Given the description of an element on the screen output the (x, y) to click on. 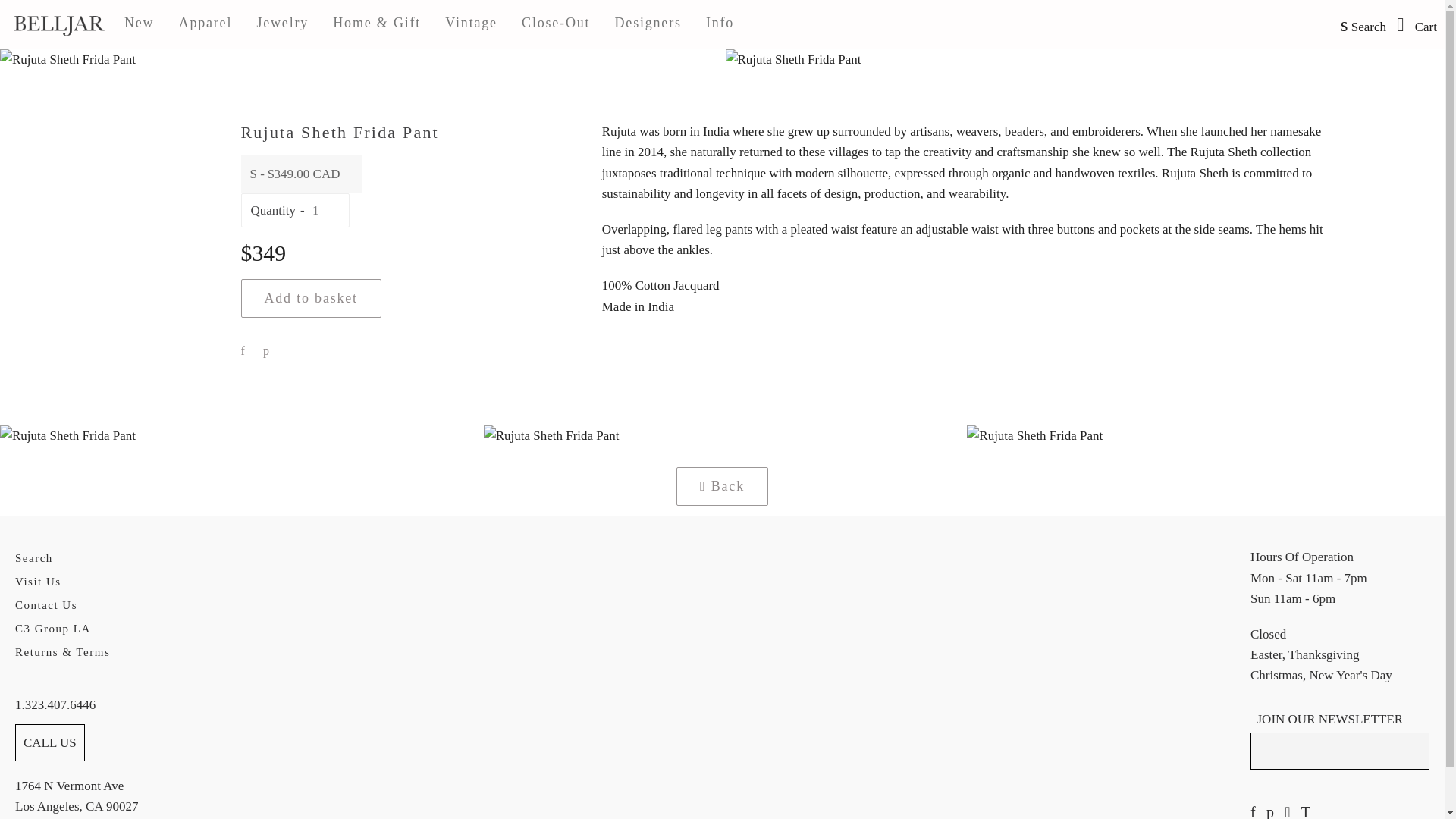
BellJar on Pinterest (1270, 812)
Share on Facebook (241, 351)
Pin on Pinterest (266, 351)
BellJar on Twitter (1305, 812)
BellJar on Instagram (1287, 812)
BellJar on Facebook (1252, 812)
